Given the description of an element on the screen output the (x, y) to click on. 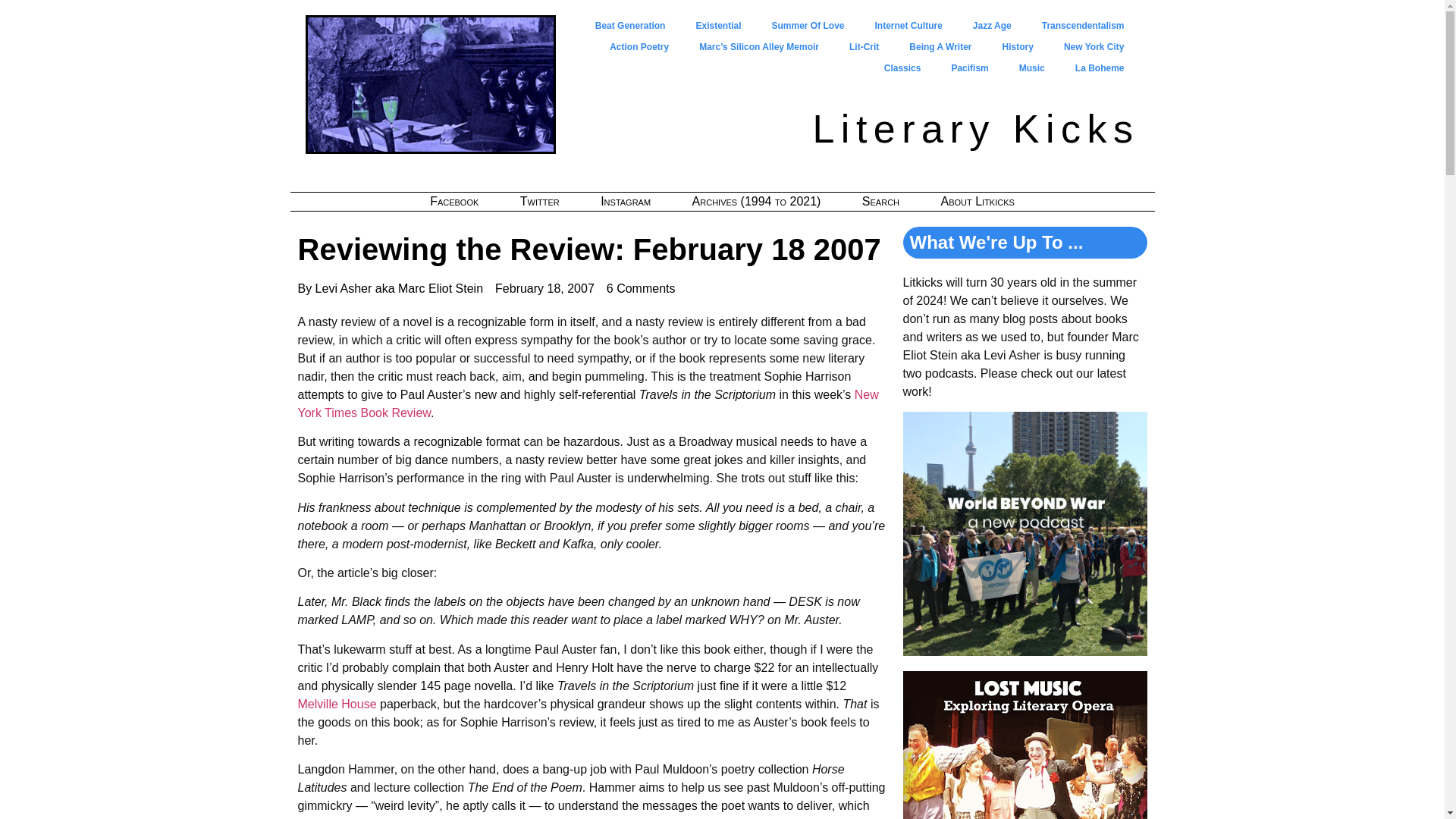
Music (1031, 67)
Summer Of Love (807, 25)
Action Poetry (639, 46)
History (1017, 46)
La Boheme (1099, 67)
Jazz Age (992, 25)
Pacifism (969, 67)
Being A Writer (940, 46)
Existential (717, 25)
Classics (902, 67)
